Given the description of an element on the screen output the (x, y) to click on. 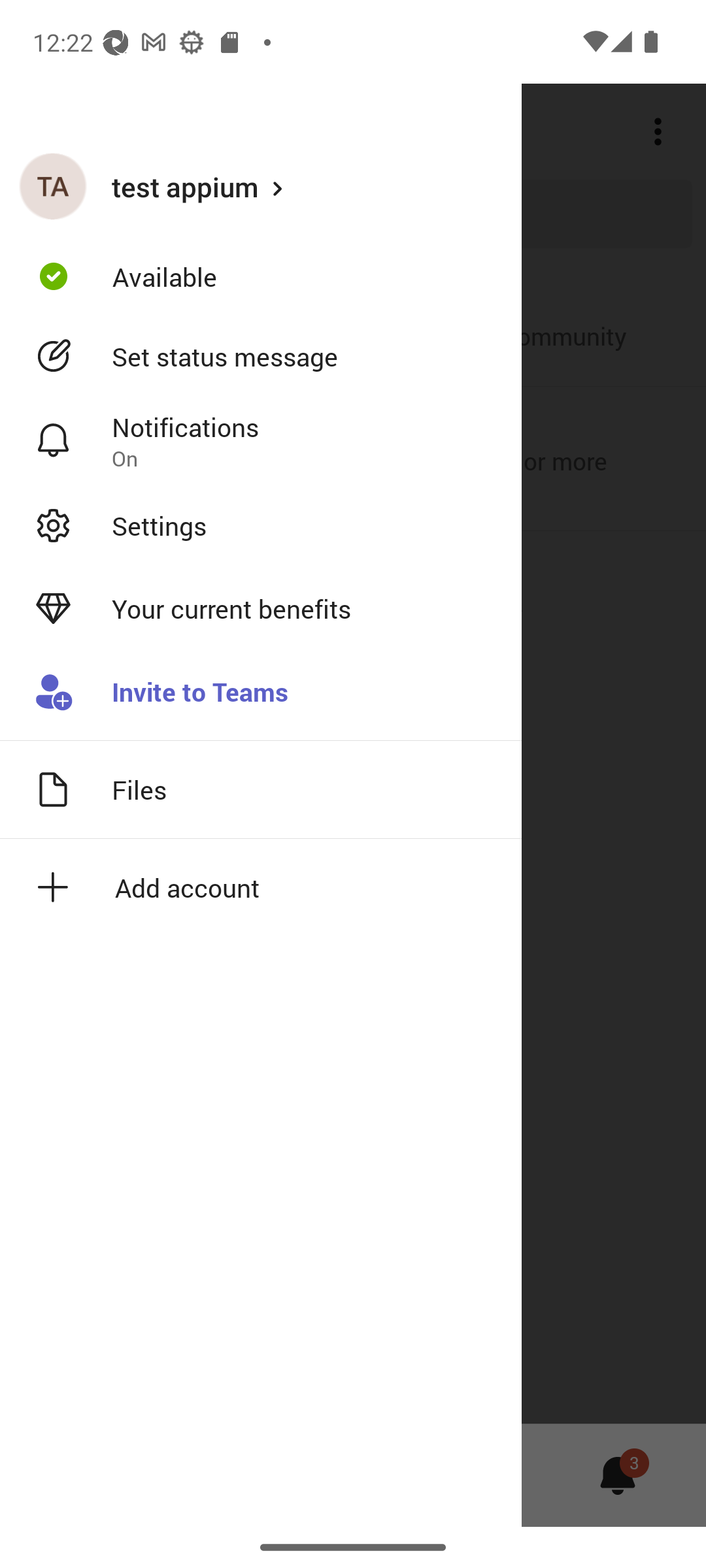
test appium (260, 186)
test appium profile picture (53, 186)
Notifications Notification settings On (260, 441)
Settings Open settings (260, 525)
Your current benefits (260, 608)
Invite to Teams Invite someone to your Teams org (260, 691)
Files (260, 789)
Add account icon Add account (260, 887)
